Given the description of an element on the screen output the (x, y) to click on. 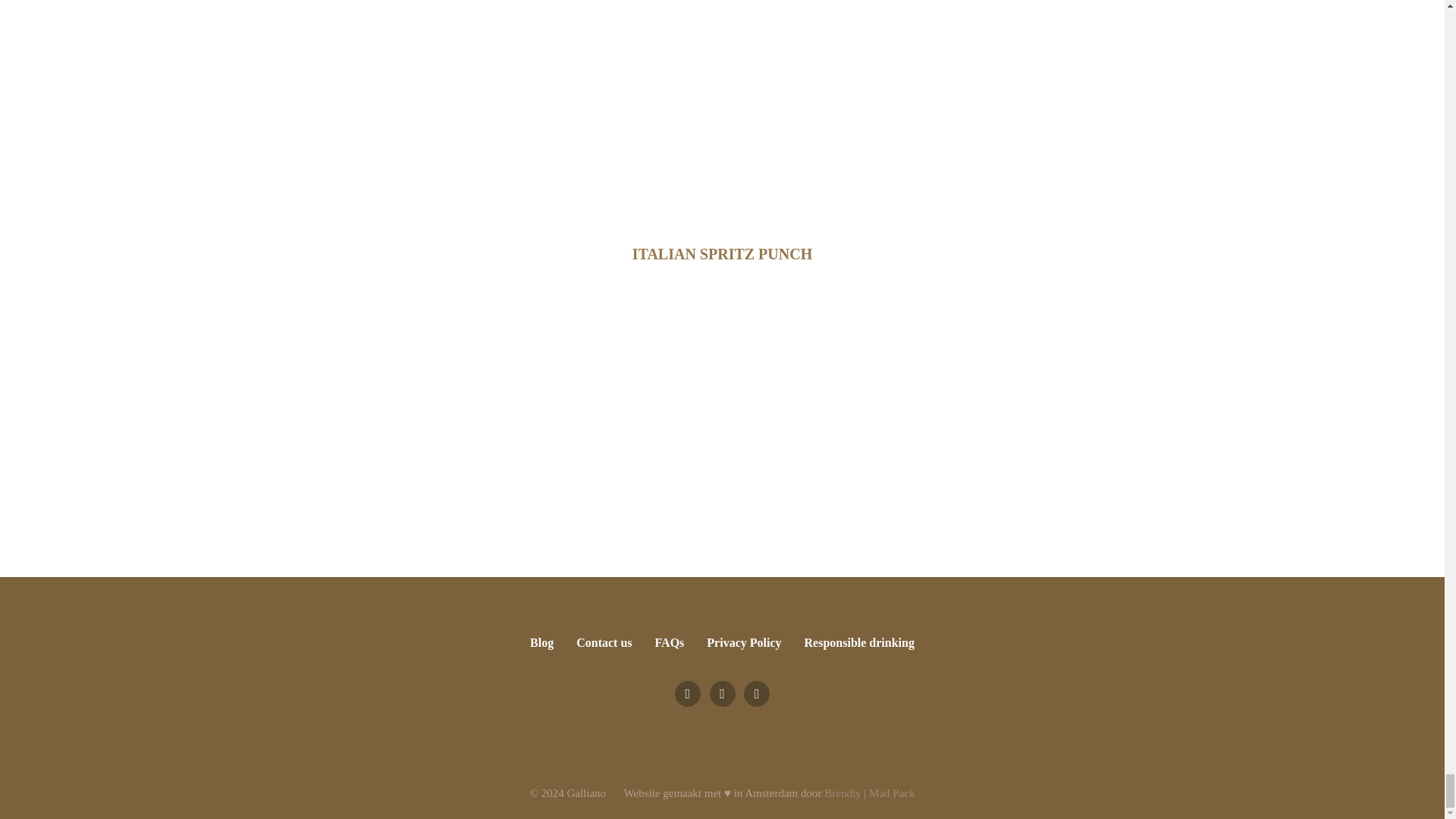
Blog (542, 642)
Facebook (687, 693)
